Given the description of an element on the screen output the (x, y) to click on. 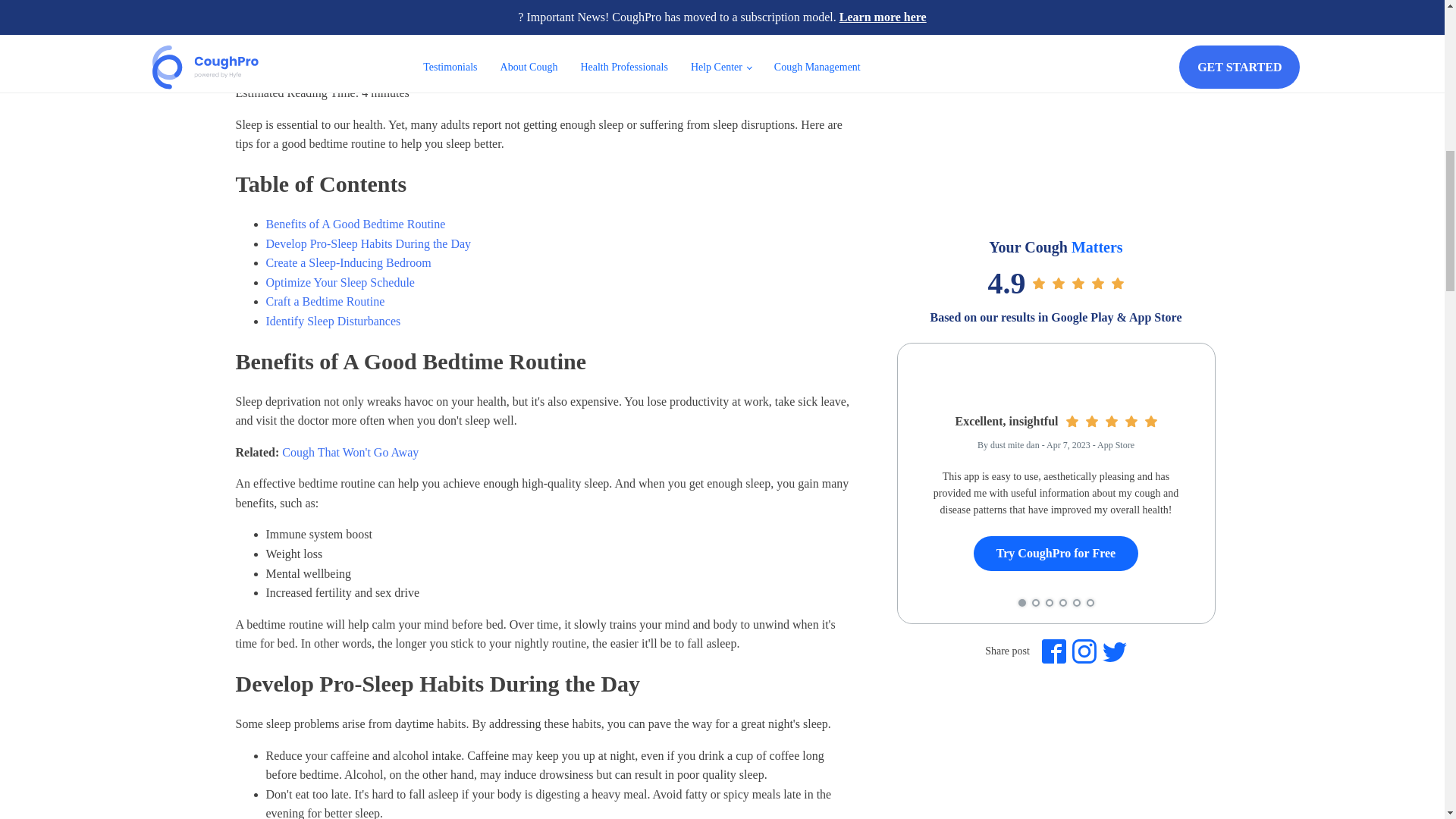
Optimize Your Sleep Schedule (338, 282)
Try CoughPro for Free (1056, 553)
Create a Sleep-Inducing Bedroom (347, 262)
Cough That Won't Go Away (350, 451)
Develop Pro-Sleep Habits During the Day (367, 243)
Benefits of A Good Bedtime Routine (354, 223)
Identify Sleep Disturbances (332, 320)
Craft a Bedtime Routine (324, 300)
